Given the description of an element on the screen output the (x, y) to click on. 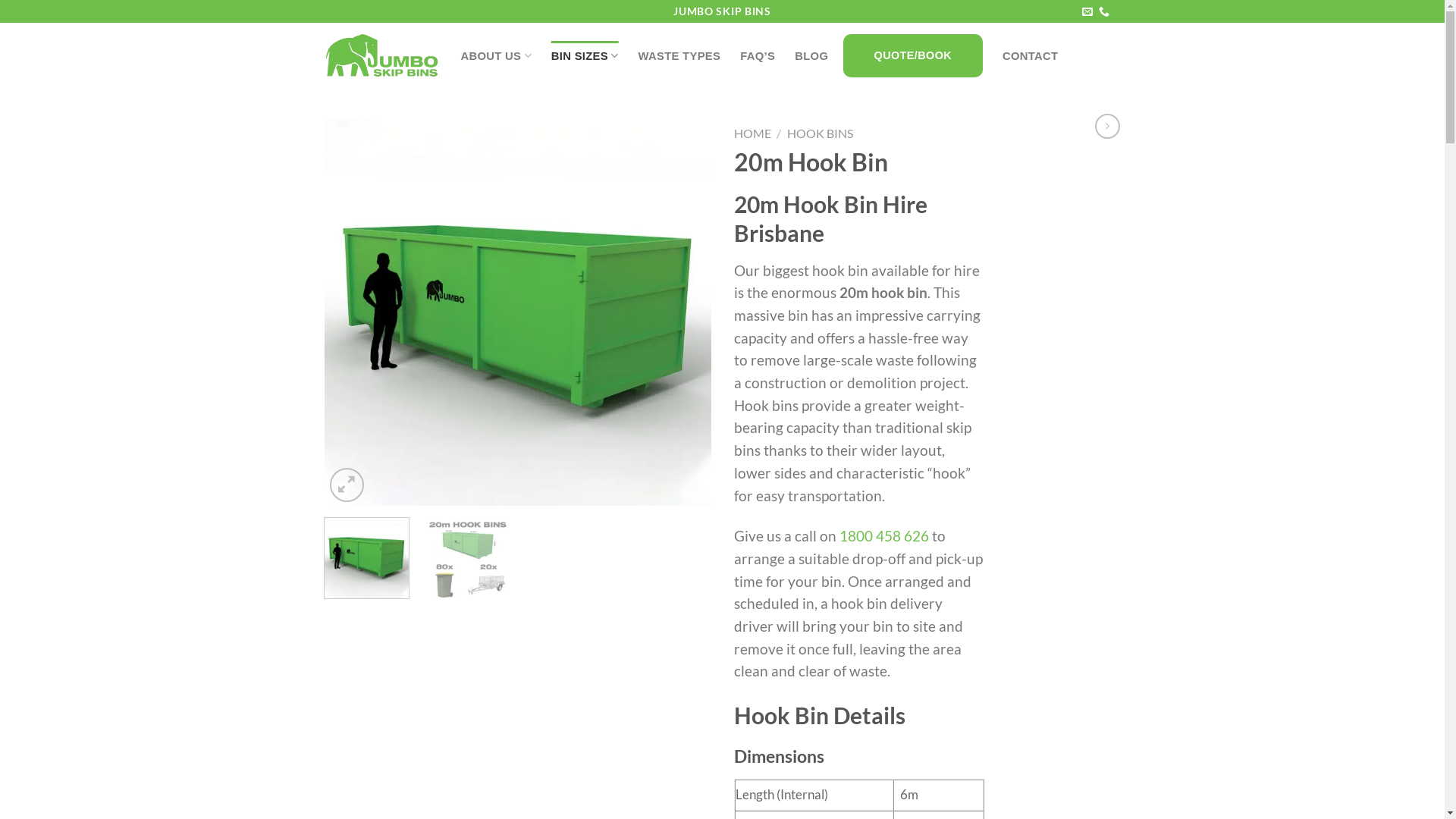
WASTE TYPES Element type: text (679, 55)
1800 458 626 Element type: text (883, 535)
QUOTE/BOOK Element type: text (912, 55)
QUOTE/BOOK Element type: text (917, 55)
HOOK BINS Element type: text (820, 132)
CONTACT Element type: text (1029, 55)
BLOG Element type: text (811, 55)
BIN SIZES Element type: text (584, 55)
ABOUT US Element type: text (496, 55)
20m-hook-bin-hire-brisbane-product-image Element type: hover (517, 310)
Jumbo Skip Bins - Skip Bin Hire Brisbane Element type: hover (381, 55)
HOME Element type: text (752, 132)
